Given the description of an element on the screen output the (x, y) to click on. 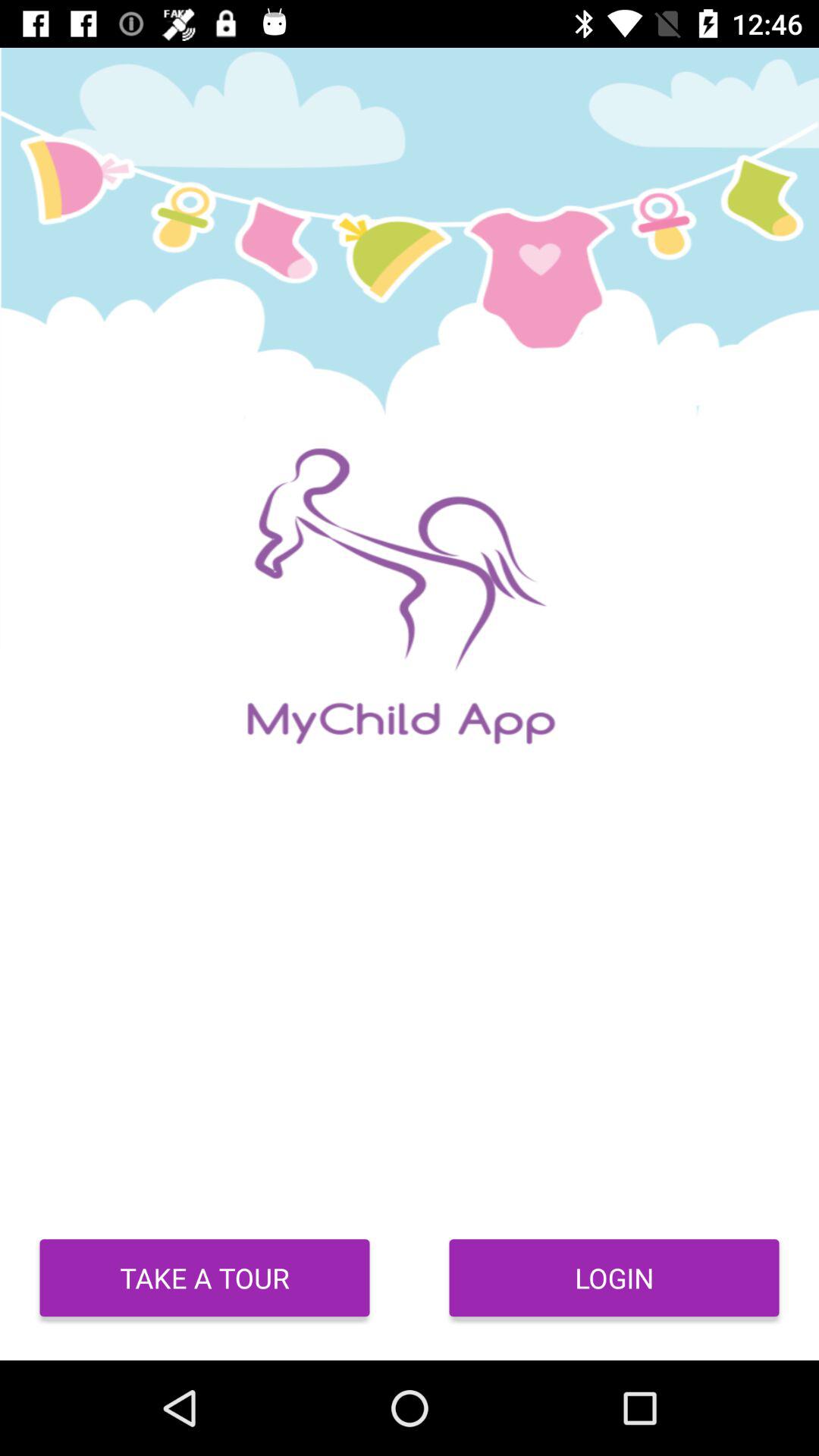
select the icon to the right of the take a tour icon (614, 1277)
